Given the description of an element on the screen output the (x, y) to click on. 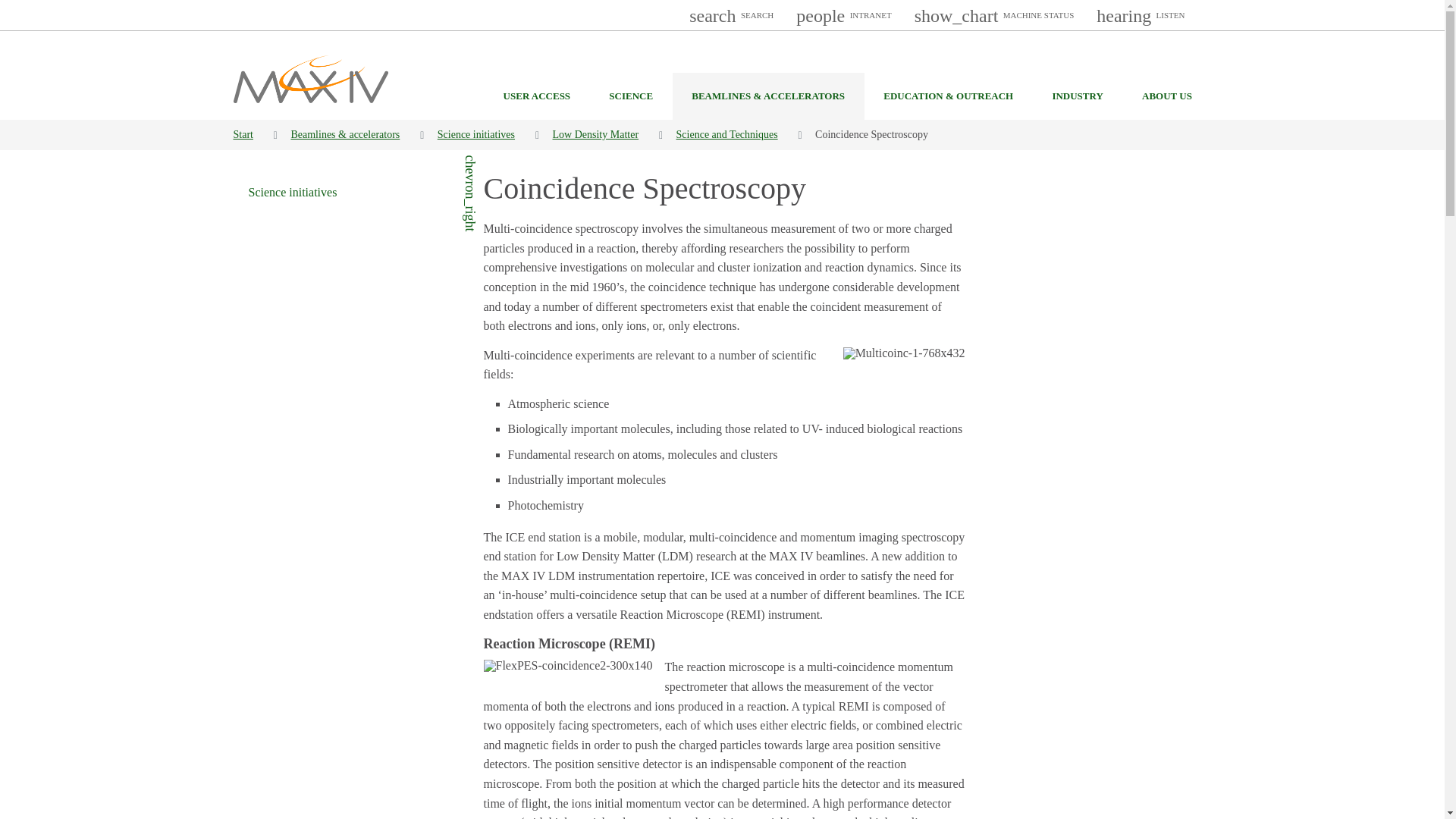
Listen (1139, 15)
people INTRANET (843, 15)
hearing LISTEN (1139, 15)
Machine status (994, 15)
USER ACCESS (536, 95)
Intranet (843, 15)
